Given the description of an element on the screen output the (x, y) to click on. 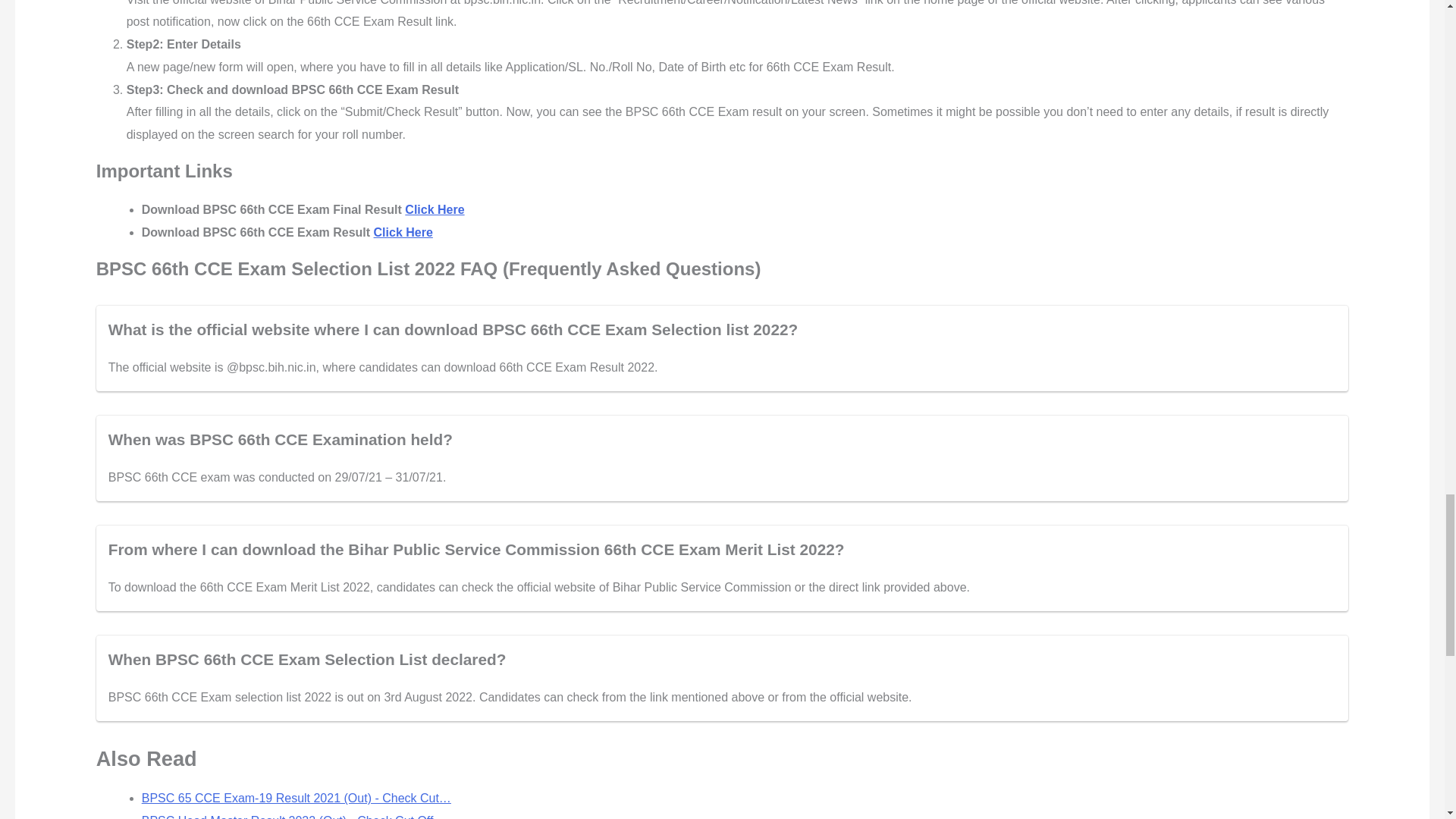
Click Here (434, 209)
BPSC Result (403, 232)
BPSC Result (434, 209)
Click Here (403, 232)
